Given the description of an element on the screen output the (x, y) to click on. 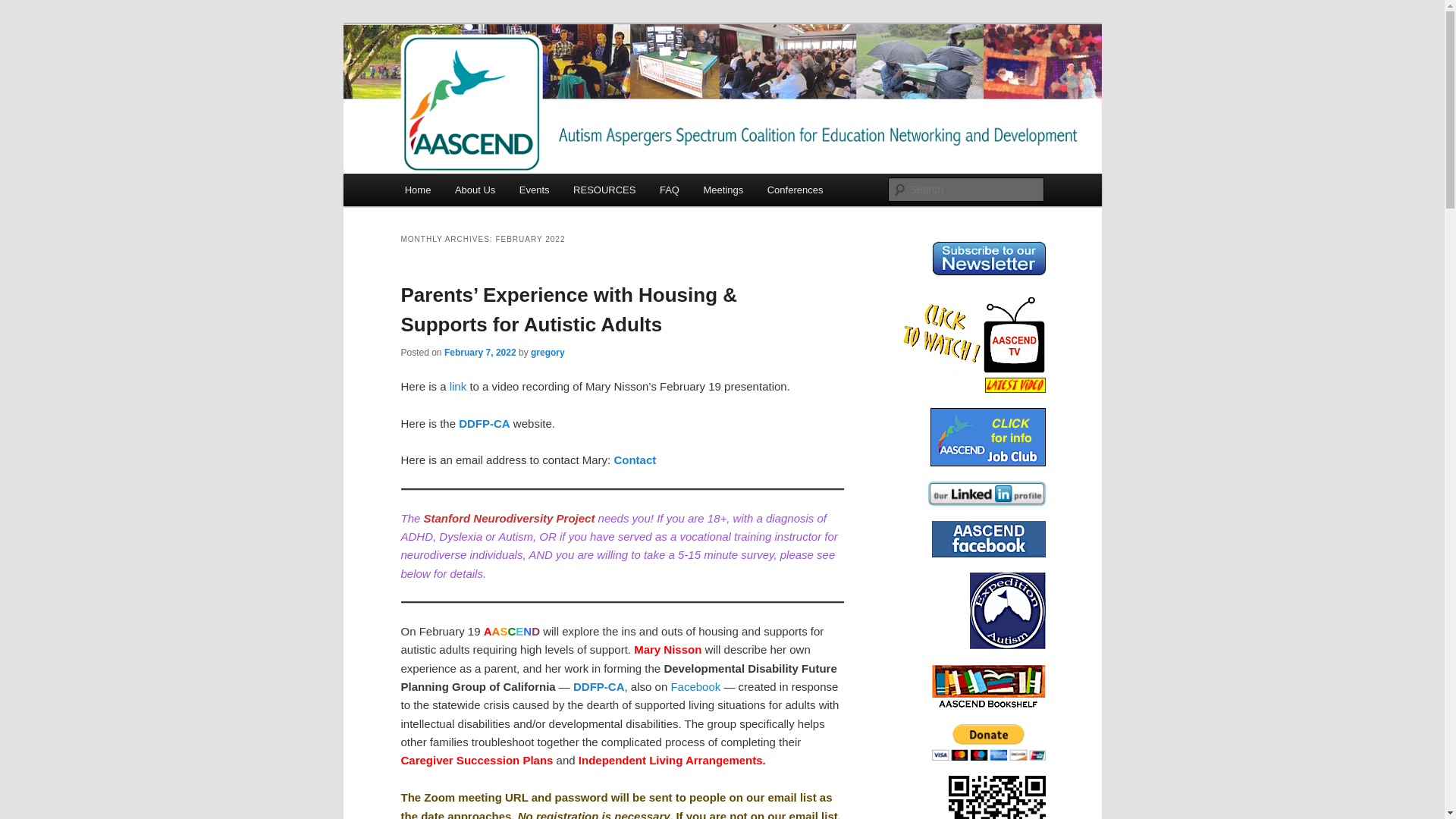
February 7, 2022 (480, 352)
Contact (633, 459)
link (458, 386)
View all posts by gregory (547, 352)
Events (533, 189)
Search (24, 8)
Home (417, 189)
3:39 pm (480, 352)
About Us (474, 189)
Facebook (694, 686)
Conferences (794, 189)
FAQ (669, 189)
DDFP-CA (598, 686)
RESOURCES (603, 189)
FAQ (669, 189)
